Given the description of an element on the screen output the (x, y) to click on. 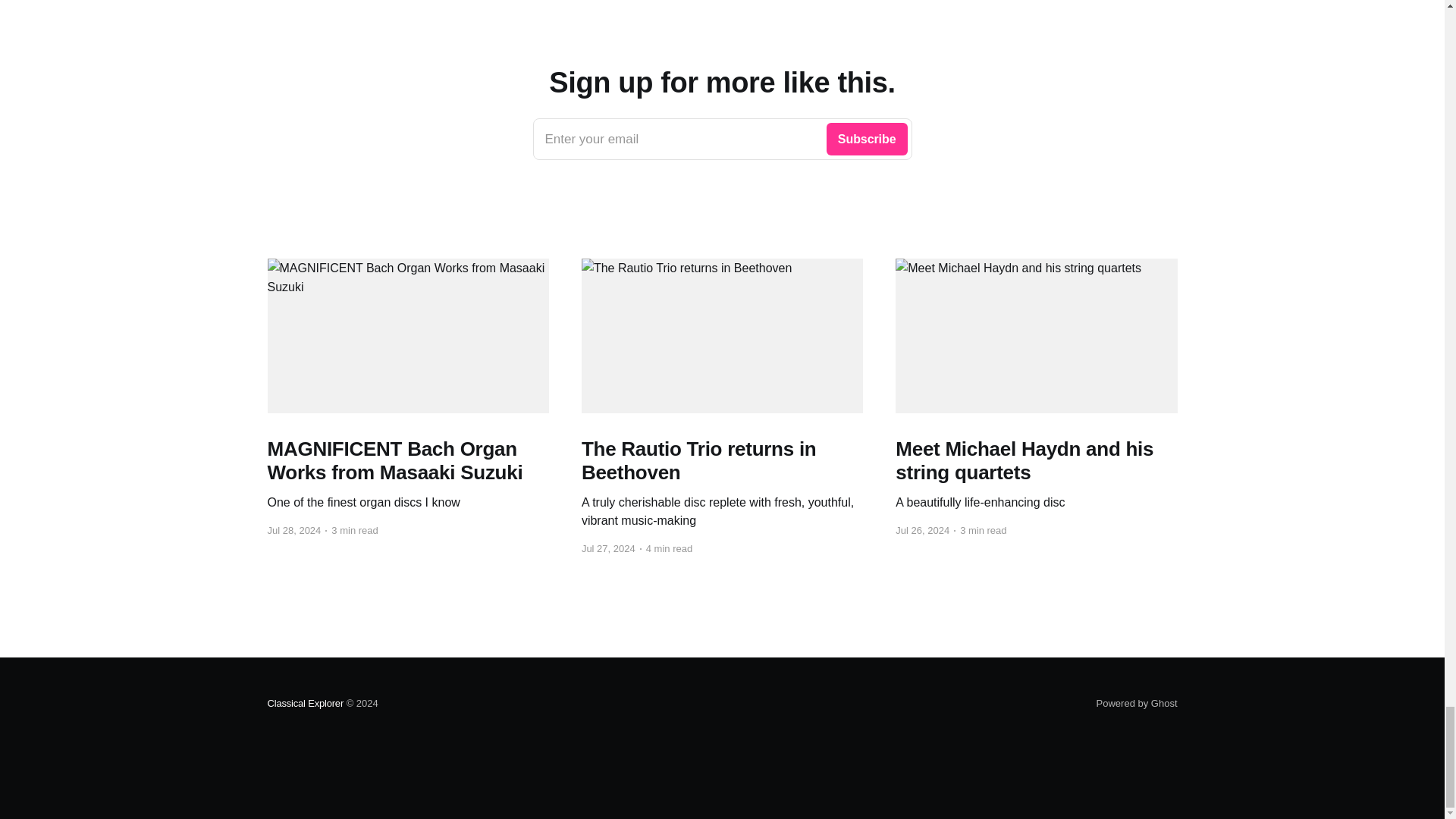
Powered by Ghost (1136, 703)
Classical Explorer (304, 703)
